Given the description of an element on the screen output the (x, y) to click on. 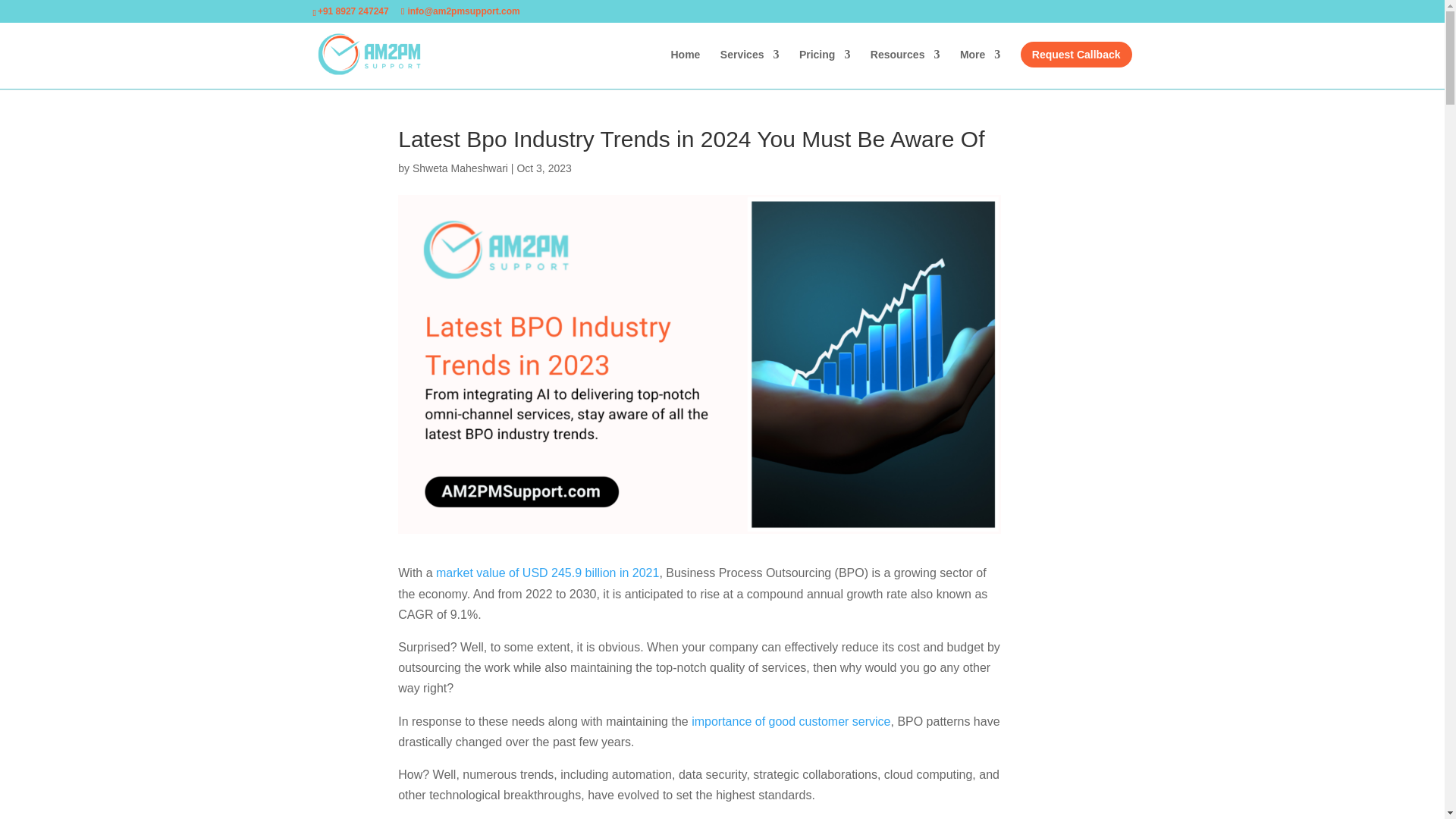
Services (749, 68)
Posts by Shweta Maheshwari (460, 168)
importance of good customer service (790, 721)
More (979, 68)
Resources (905, 68)
Shweta Maheshwari (460, 168)
market value of USD 245.9 billion in 2021 (547, 572)
Request Callback (1076, 54)
Pricing (824, 68)
